Given the description of an element on the screen output the (x, y) to click on. 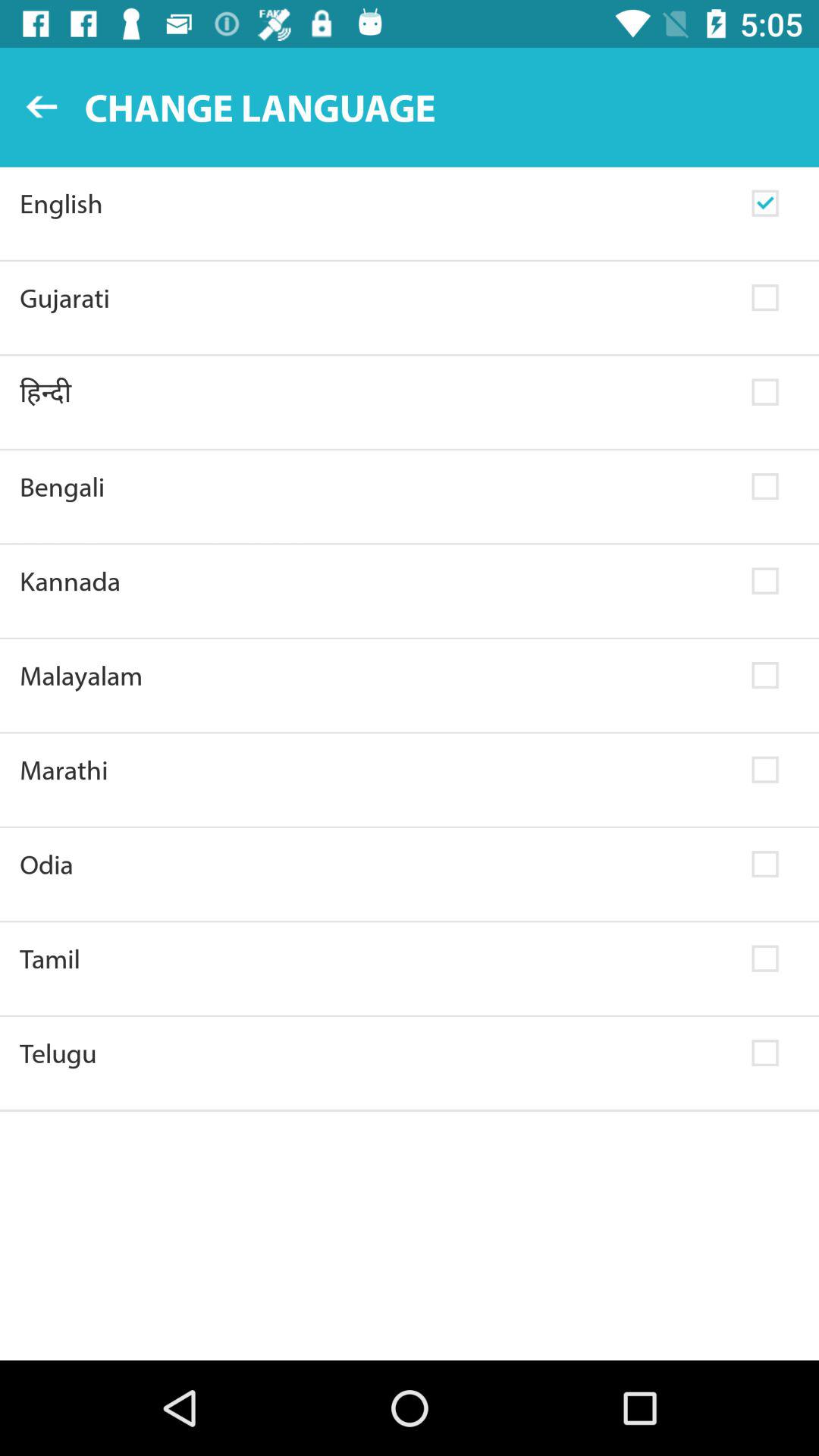
flip to marathi (375, 769)
